Given the description of an element on the screen output the (x, y) to click on. 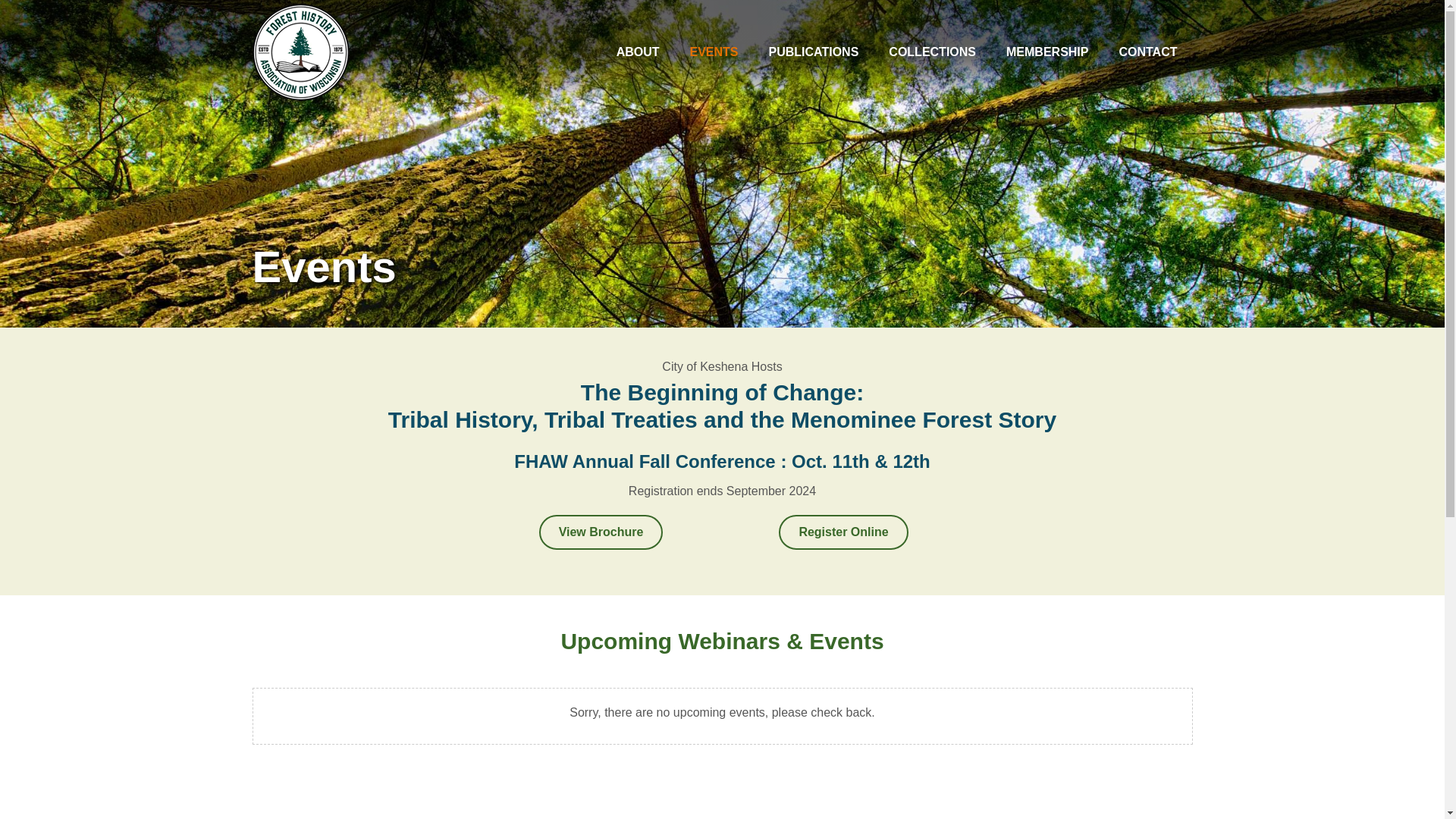
ABOUT (638, 51)
MEMBERSHIP (1047, 51)
View Brochure (600, 532)
EVENTS (714, 51)
Register Online (842, 532)
forest-history-ass-wi-logo (300, 52)
PUBLICATIONS (814, 51)
COLLECTIONS (932, 51)
CONTACT (1147, 51)
